Given the description of an element on the screen output the (x, y) to click on. 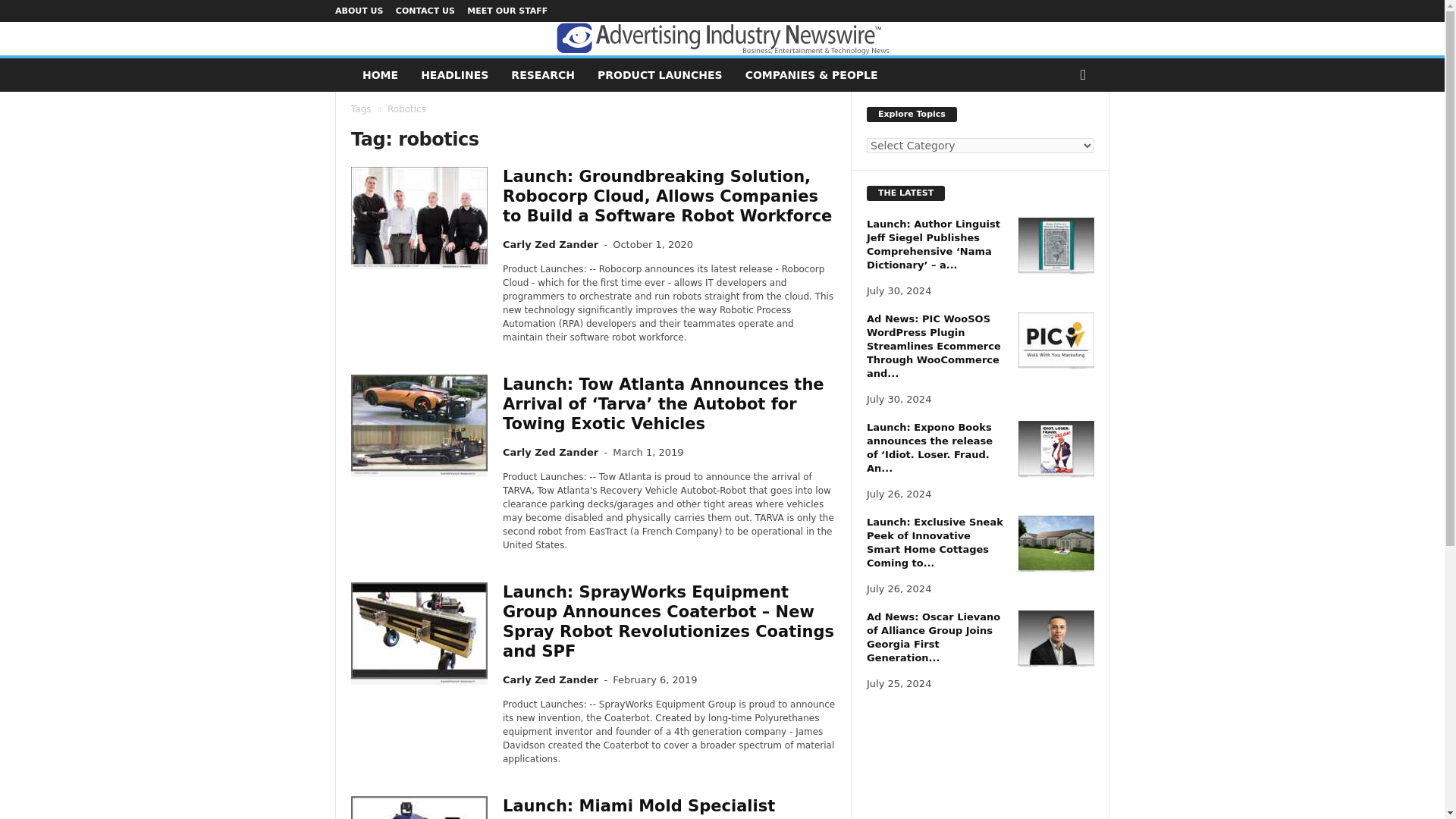
Advertising and Marketing News (721, 38)
Carly Zed Zander (550, 451)
HEADLINES (454, 74)
ABOUT US (358, 10)
MEET OUR STAFF (507, 10)
CONTACT US (425, 10)
